Given the description of an element on the screen output the (x, y) to click on. 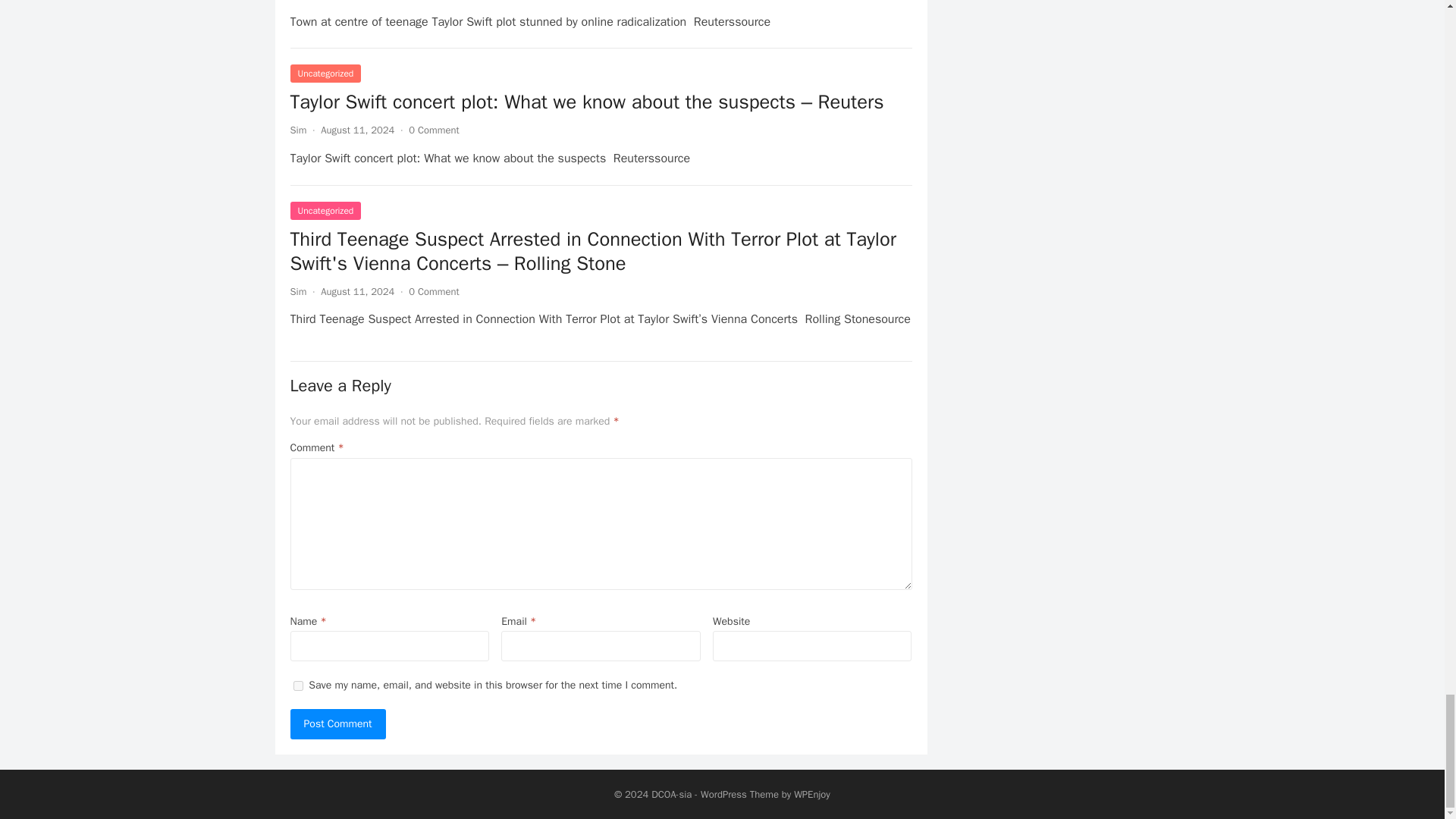
Posts by Sim (297, 291)
Posts by Sim (297, 129)
Post Comment (337, 724)
yes (297, 685)
